Given the description of an element on the screen output the (x, y) to click on. 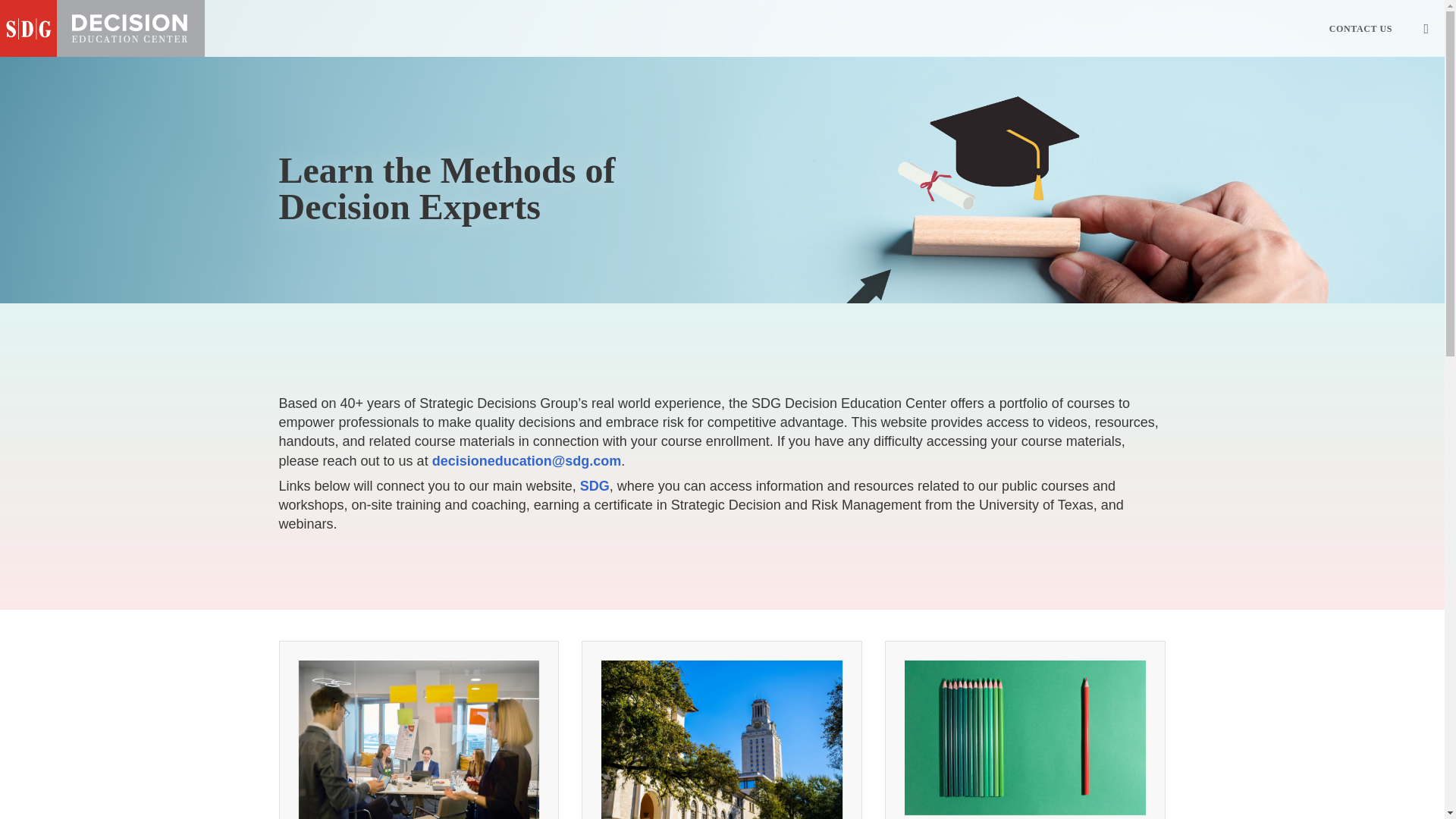
CONTACT US (1360, 28)
SDG (594, 485)
View Resources (1026, 746)
Learn More (418, 791)
Learn More (722, 746)
SDG Decision Education Center (102, 28)
